Given the description of an element on the screen output the (x, y) to click on. 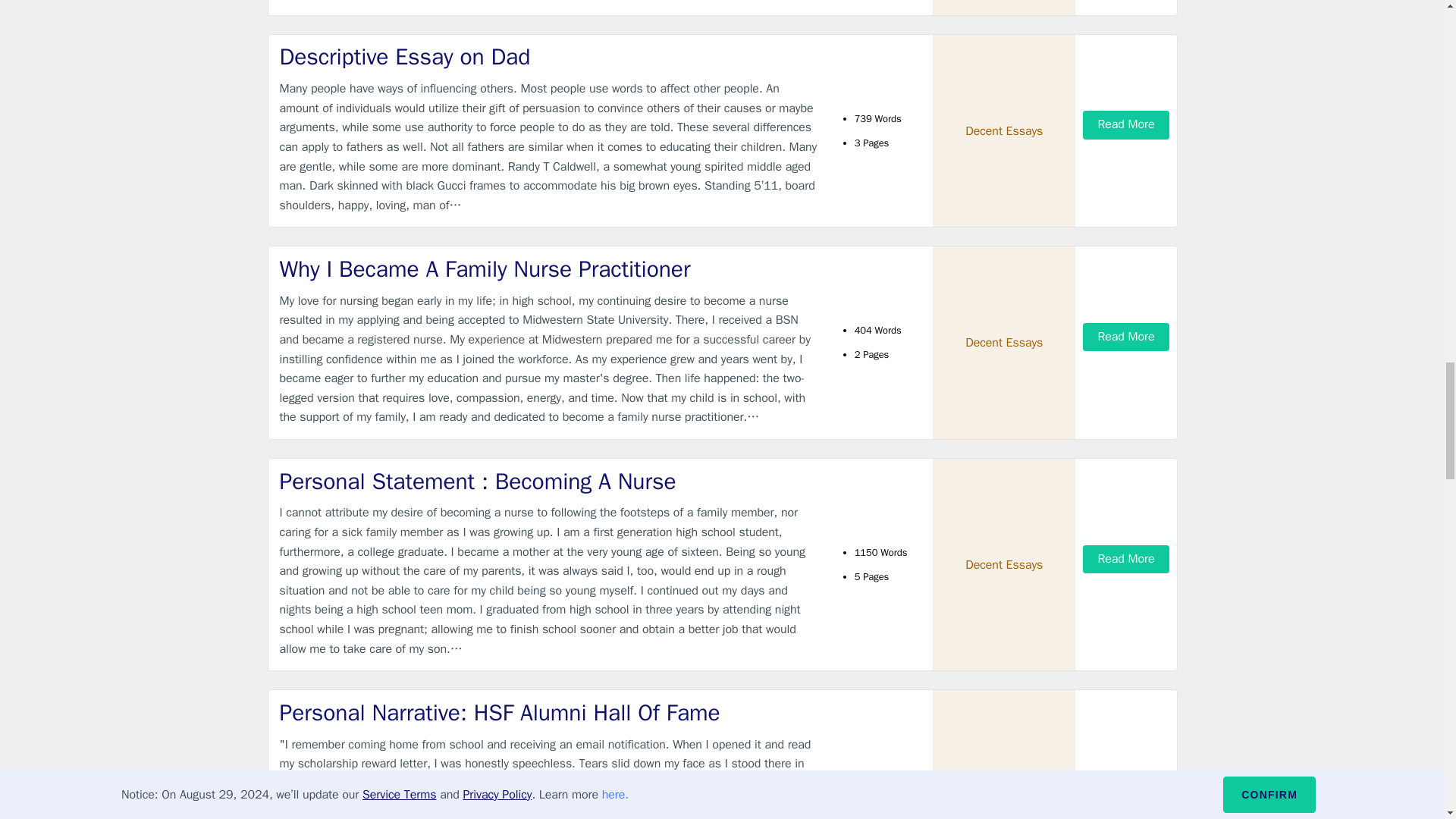
Read More (1126, 559)
Read More (1126, 124)
Read More (1126, 336)
Personal Statement : Becoming A Nurse (548, 481)
Why I Became A Family Nurse Practitioner (548, 269)
Descriptive Essay on Dad (548, 56)
Personal Narrative: HSF Alumni Hall Of Fame (548, 712)
